Given the description of an element on the screen output the (x, y) to click on. 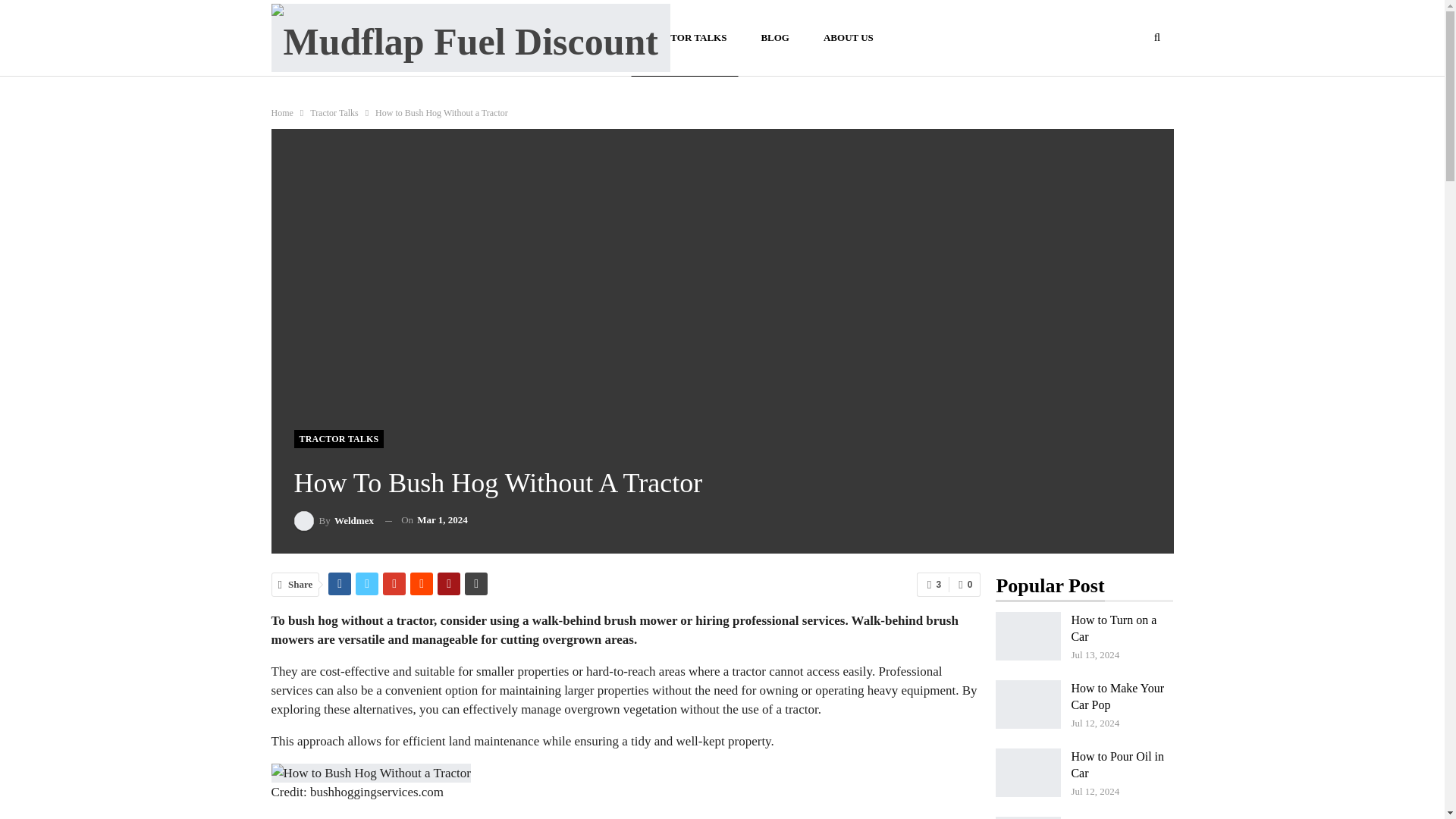
0 (964, 584)
TRACTOR TALKS (684, 38)
By Weldmex (334, 520)
TRACTOR TALKS (339, 438)
FUEL DISCOUNT (568, 38)
ABOUT US (848, 38)
Tractor Talks (334, 112)
Home (282, 112)
Browse Author Articles (334, 520)
